Given the description of an element on the screen output the (x, y) to click on. 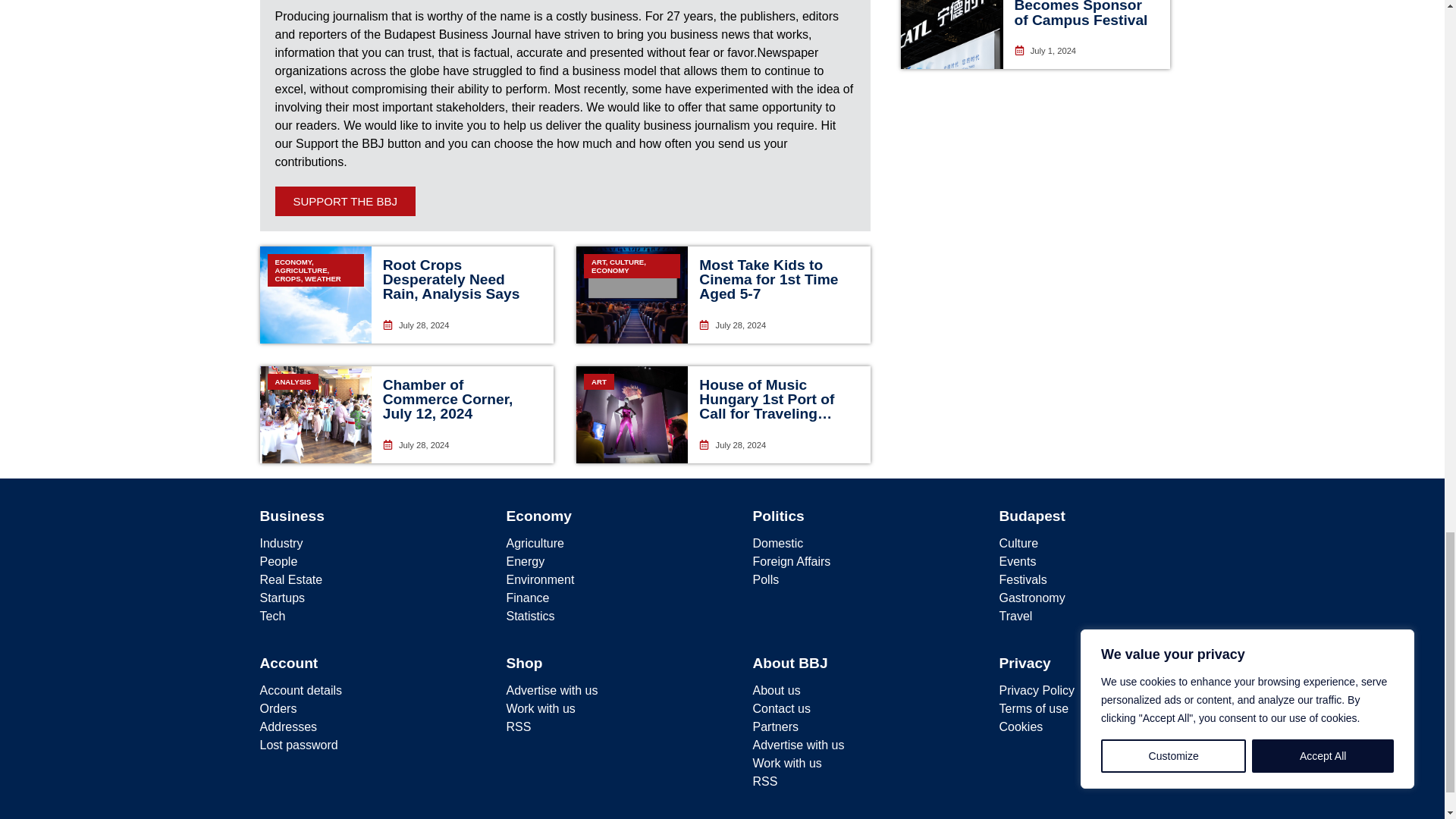
ANALYSIS (315, 414)
ART, CULTURE, ECONOMY (631, 294)
ART (631, 414)
Chamber of Commerce Corner, July 12, 2024 (447, 398)
Root Crops Desperately Need Rain, Analysis Says (450, 279)
Most Take Kids to Cinema for 1st Time Aged 5-7 (768, 279)
SUPPORT THE BBJ (344, 201)
ECONOMY, AGRICULTURE, CROPS, WEATHER (315, 294)
